Given the description of an element on the screen output the (x, y) to click on. 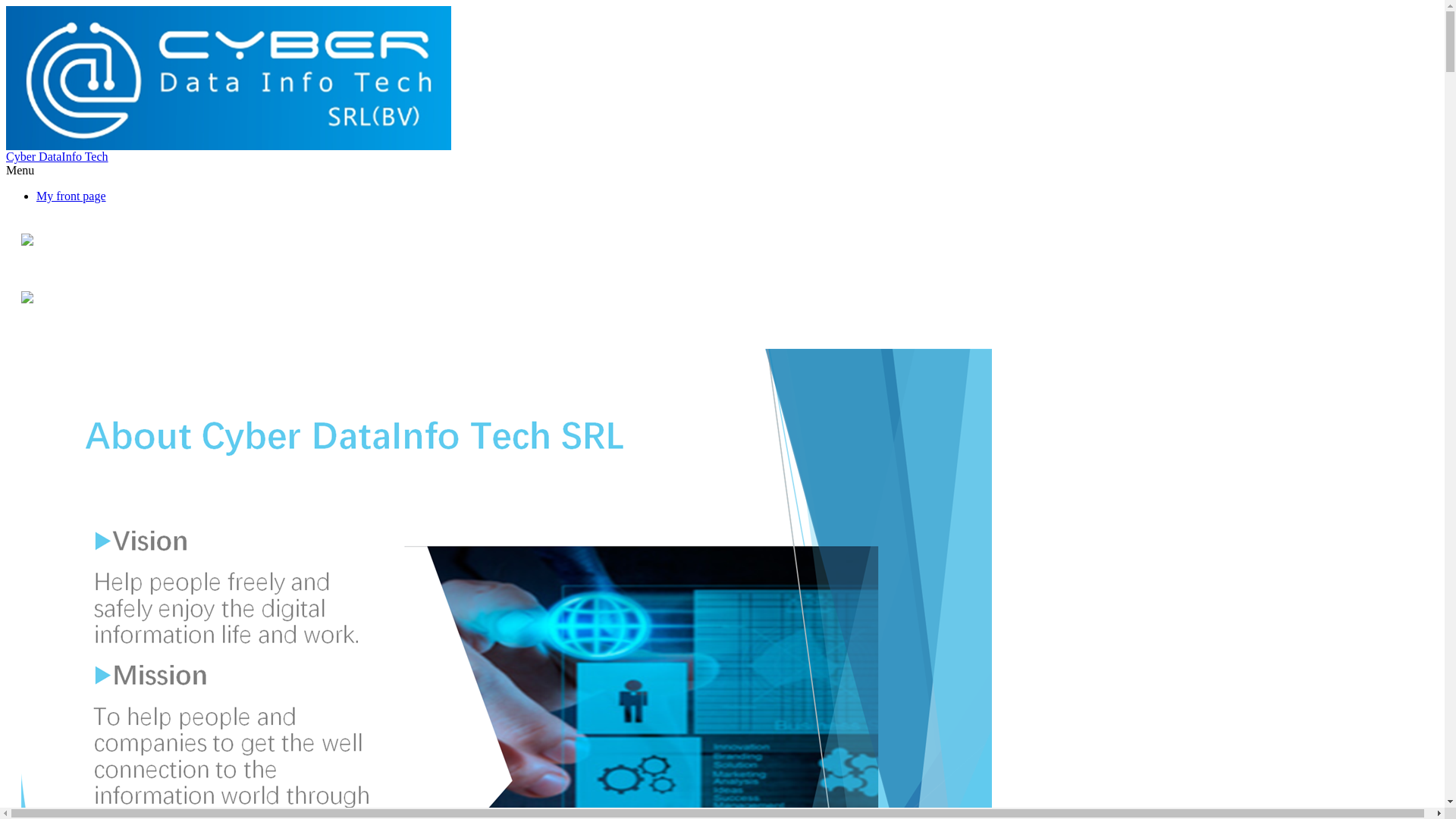
My front page Element type: text (71, 195)
Menu Element type: text (20, 169)
Cyber DataInfo Tech Element type: text (57, 156)
